Given the description of an element on the screen output the (x, y) to click on. 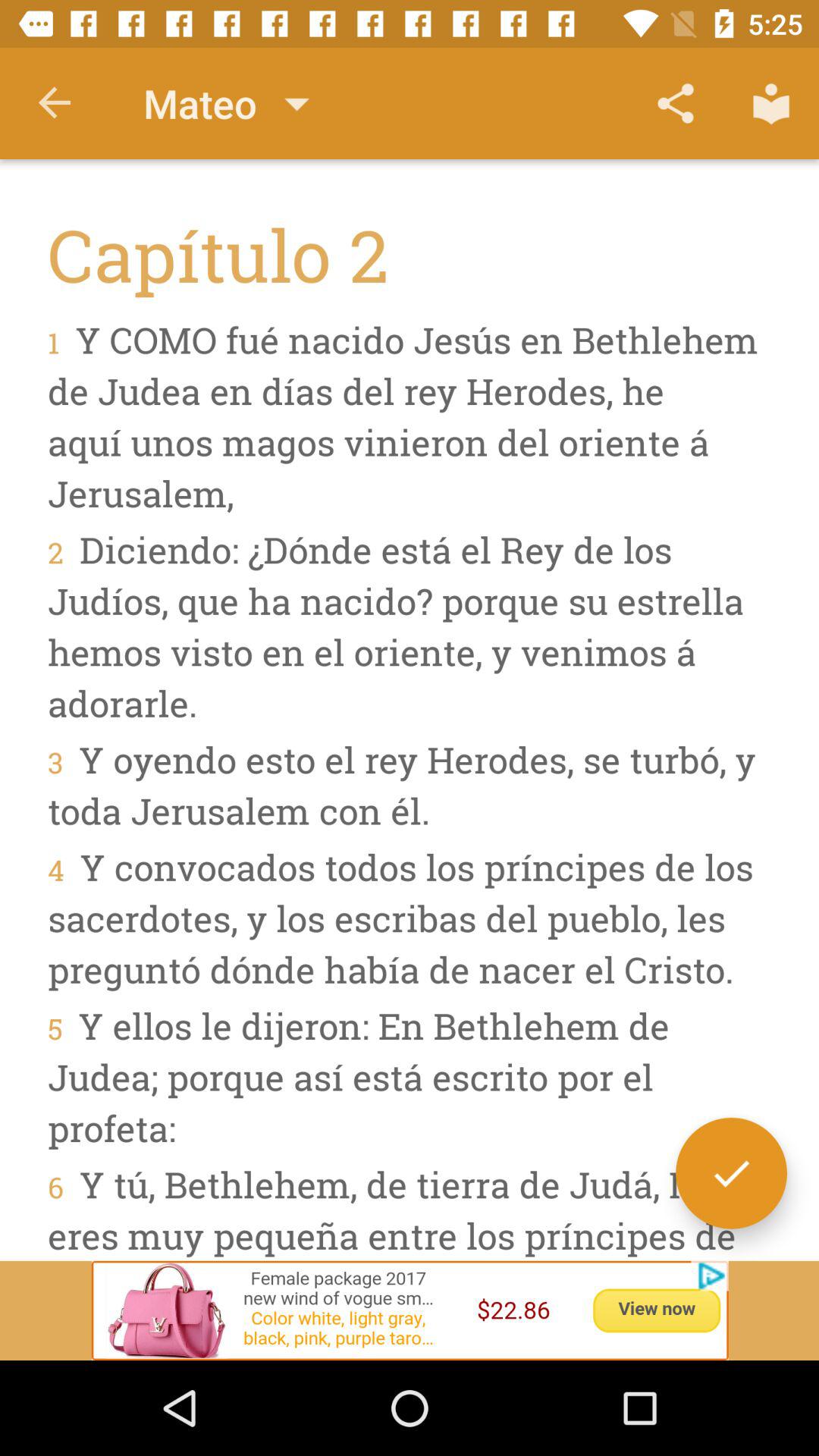
turn on the icon next to the mateo item (55, 103)
